Given the description of an element on the screen output the (x, y) to click on. 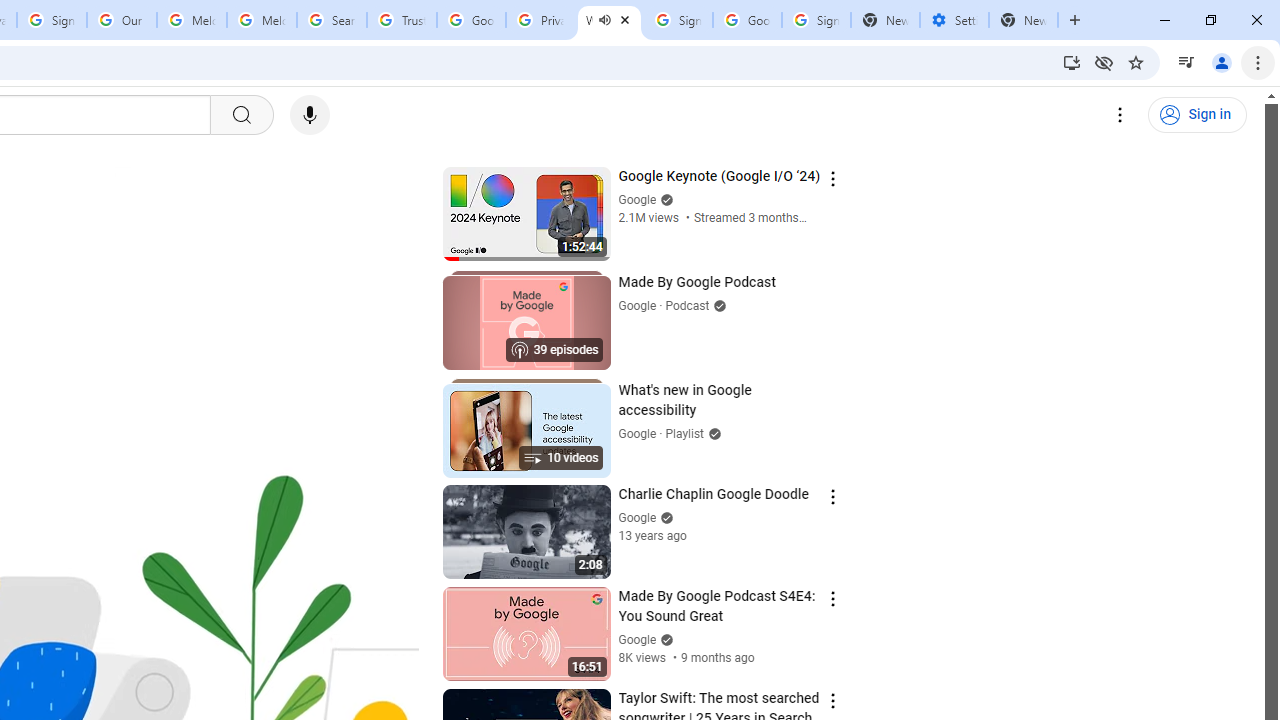
Verified (664, 639)
Search with your voice (309, 115)
Google Cybersecurity Innovations - Google Safety Center (747, 20)
Trusted Information and Content - Google Safety Center (401, 20)
